Given the description of an element on the screen output the (x, y) to click on. 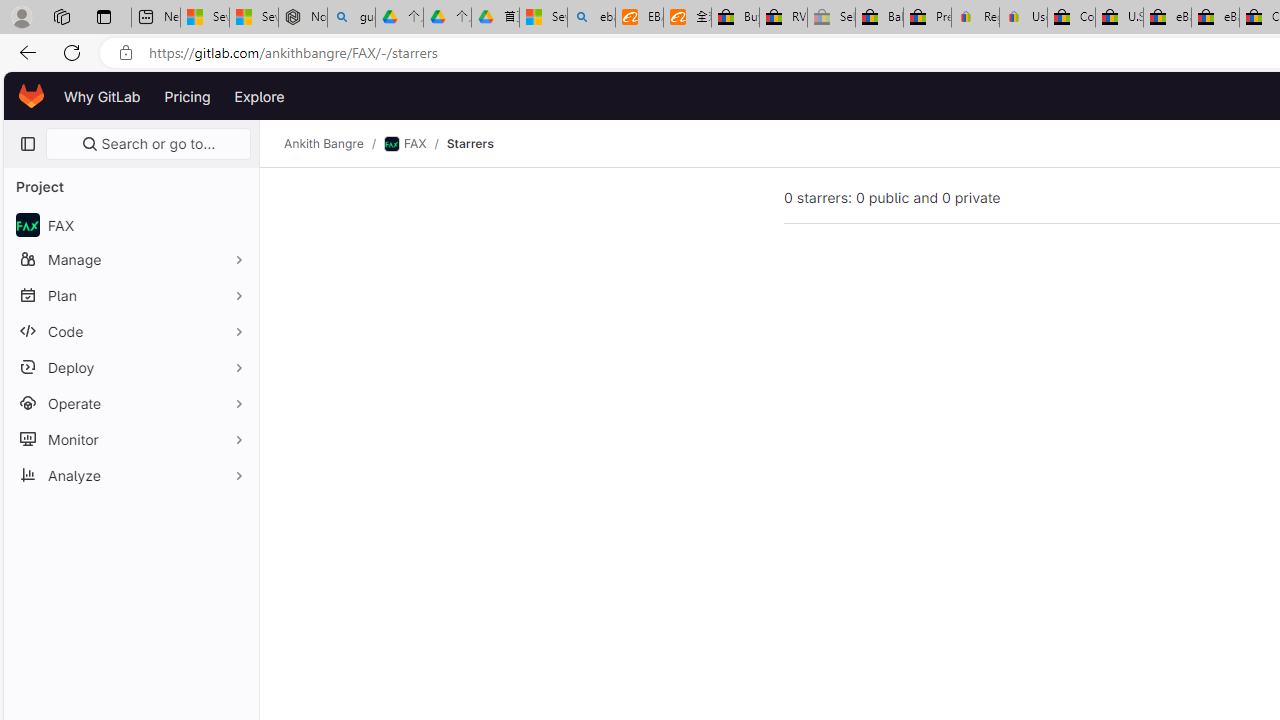
Workspaces (61, 16)
Why GitLab (102, 95)
Refresh (72, 52)
Analyze (130, 475)
Pricing (187, 95)
Personal Profile (21, 16)
RV, Trailer & Camper Steps & Ladders for sale | eBay (783, 17)
Deploy (130, 367)
eBay Inc. Reports Third Quarter 2023 Results (1215, 17)
Manage (130, 259)
Plan (130, 295)
guge yunpan - Search (351, 17)
